Given the description of an element on the screen output the (x, y) to click on. 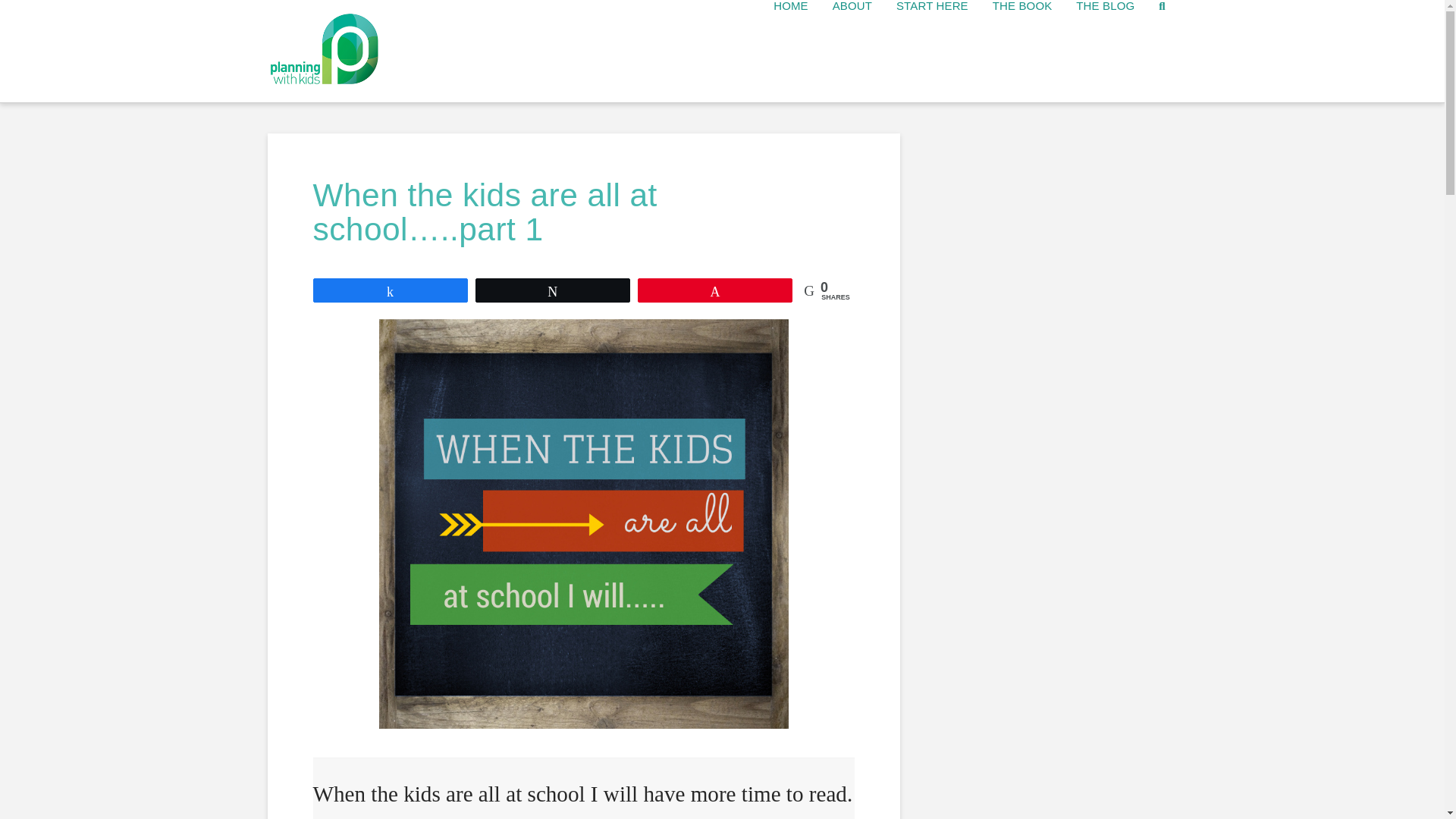
START HERE (931, 51)
